Given the description of an element on the screen output the (x, y) to click on. 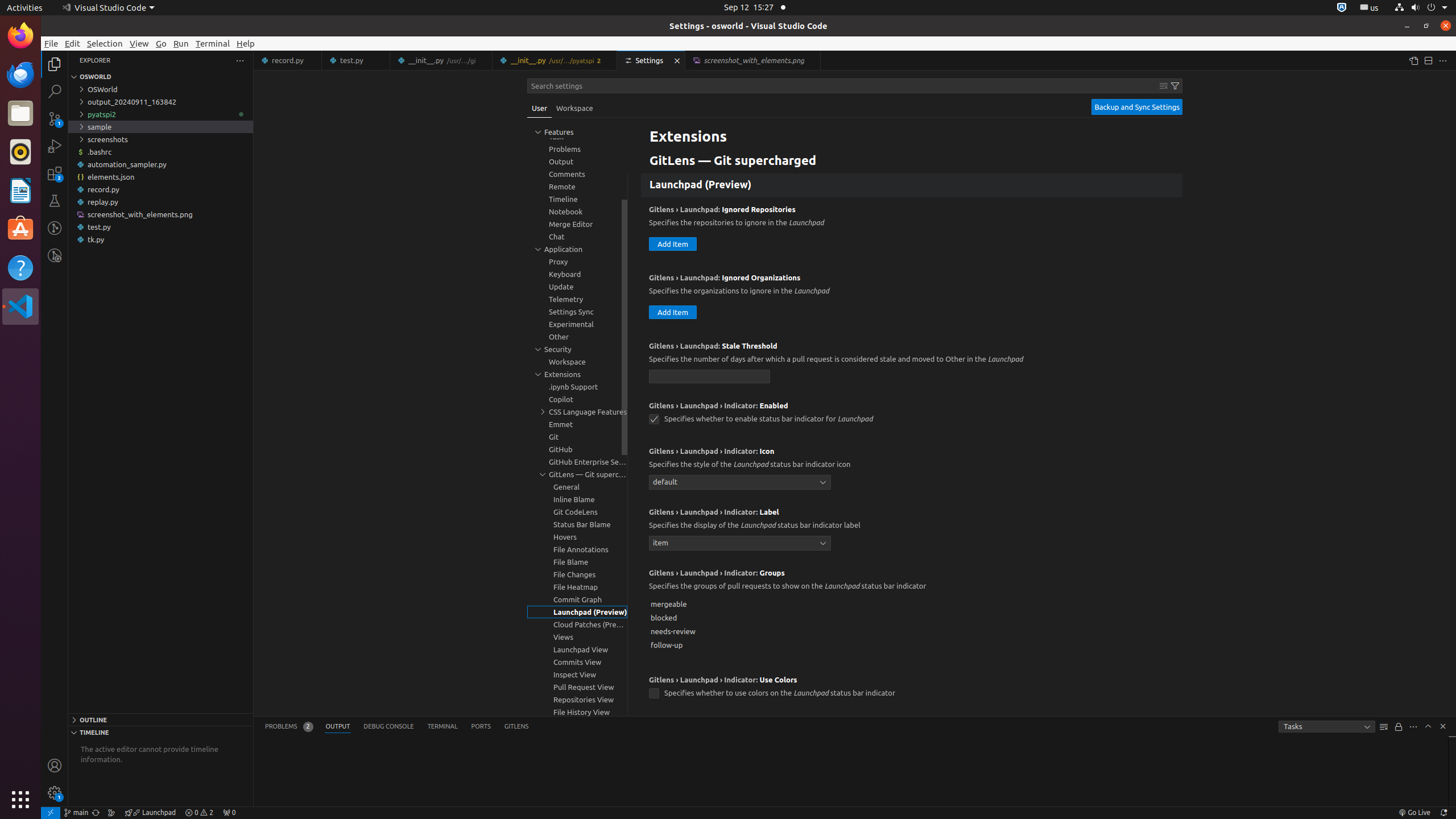
Views, group Element type: tree-item (577, 636)
List item `follow-up` Element type: list-item (911, 644)
remote Element type: push-button (50, 812)
Gitlens › Launchpad › Indicator Use Colors. Specifies whether to use colors on the Launchpad status bar indicator  Element type: tree-item (911, 690)
